Given the description of an element on the screen output the (x, y) to click on. 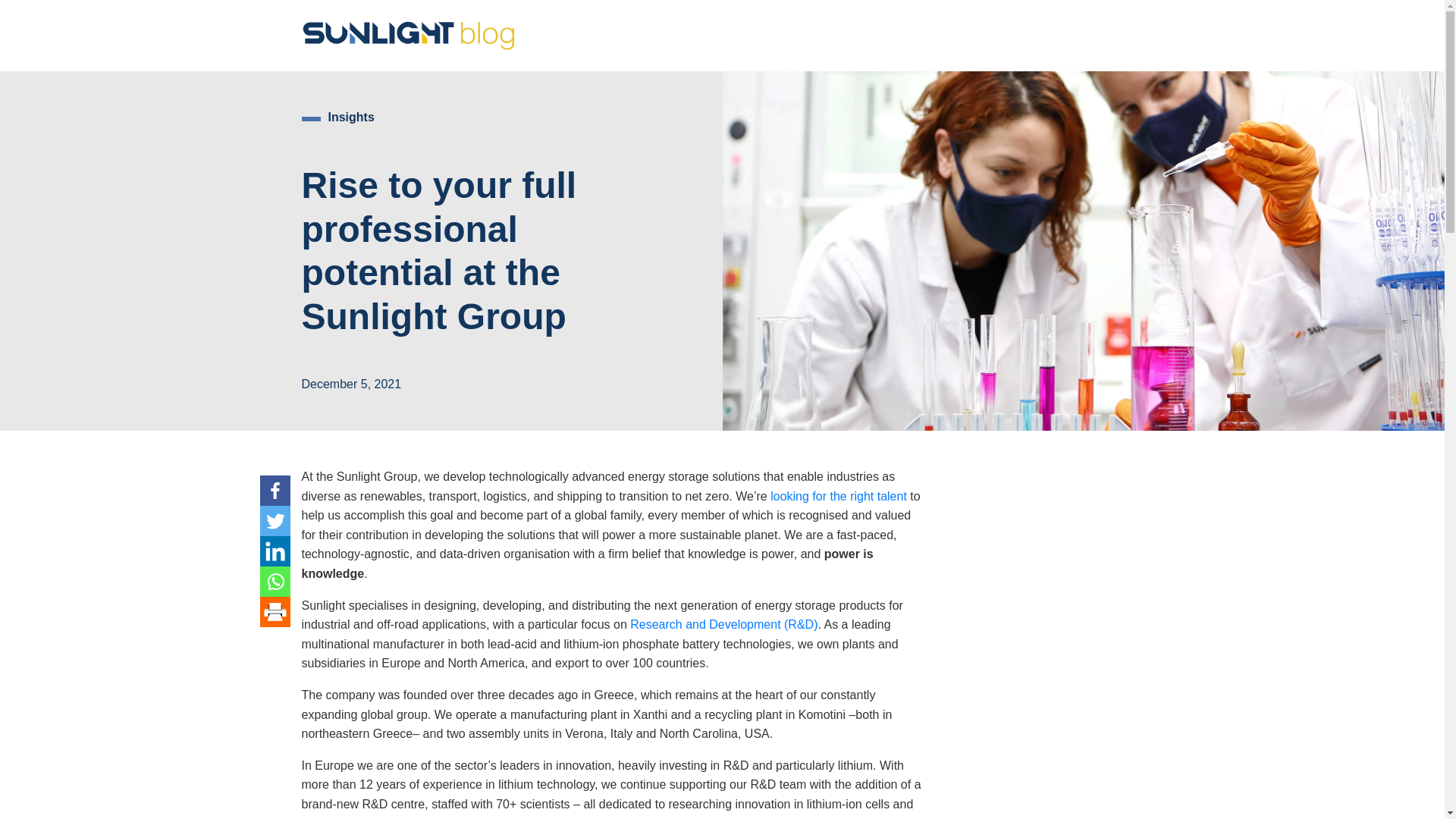
Whatsapp (274, 581)
Insights (350, 116)
Twitter (274, 521)
Linkedin (274, 551)
Facebook (274, 490)
Print (274, 612)
looking for the right talent (838, 495)
